Given the description of an element on the screen output the (x, y) to click on. 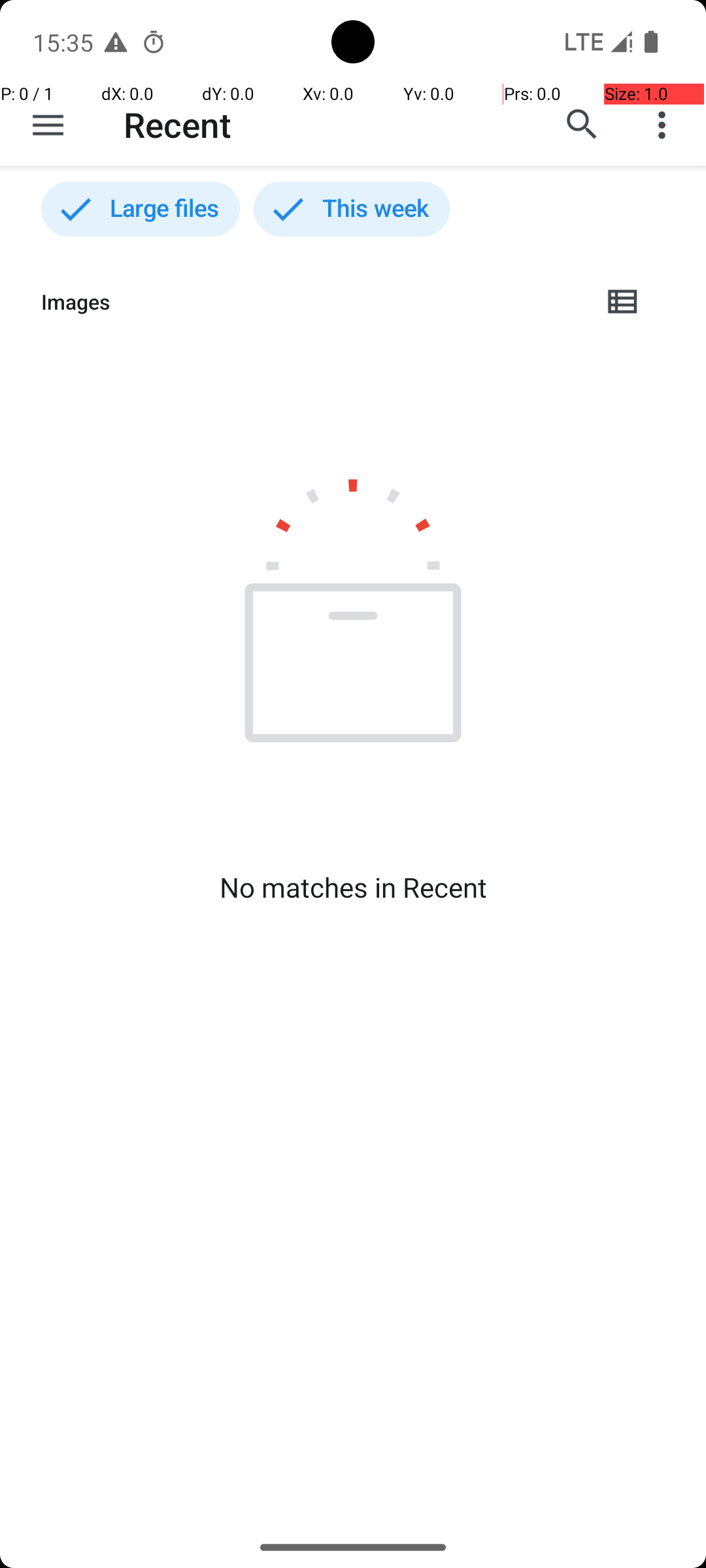
No matches in Recent Element type: android.widget.TextView (352, 886)
